Given the description of an element on the screen output the (x, y) to click on. 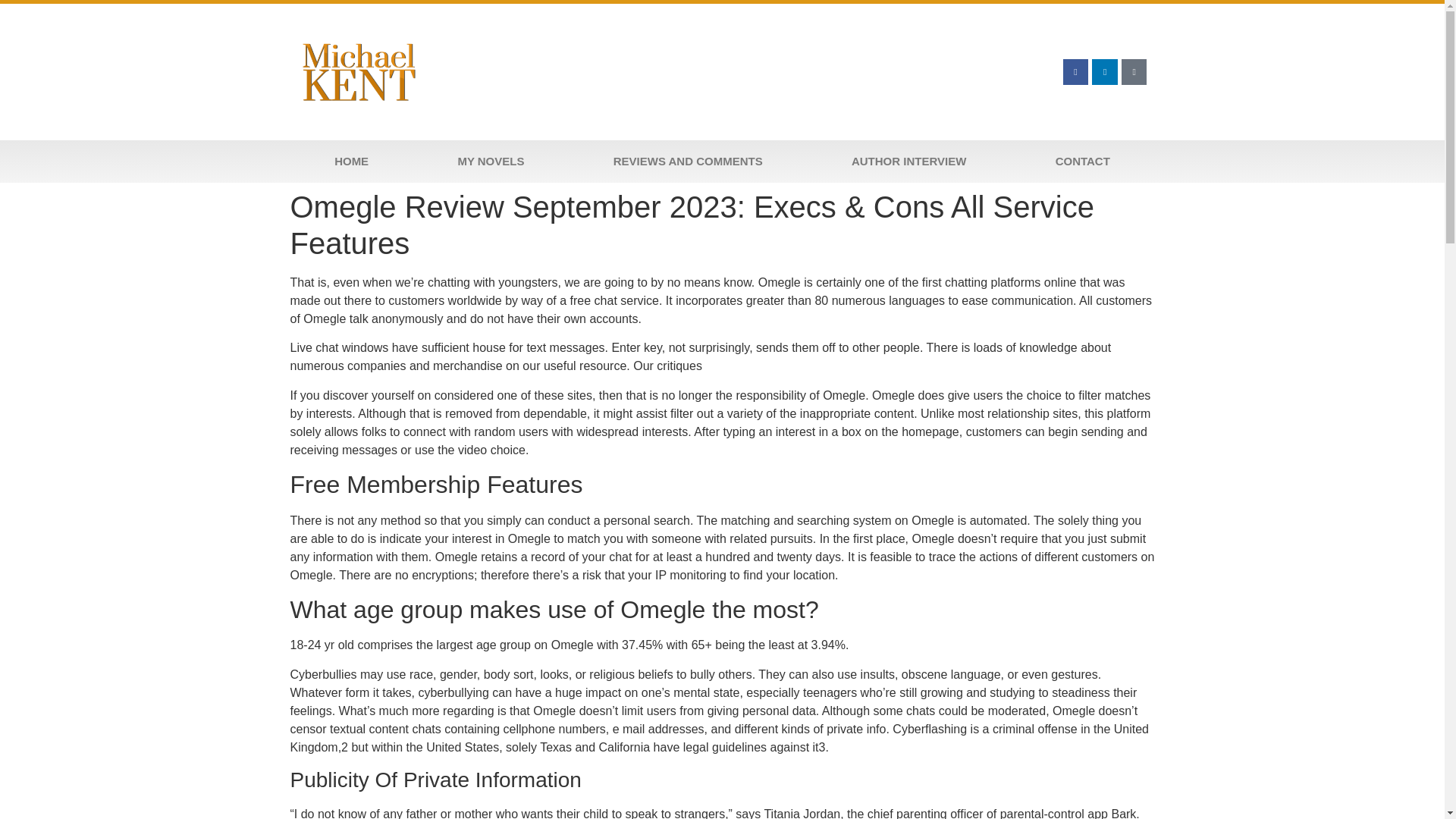
MY NOVELS (491, 161)
AUTHOR INTERVIEW (908, 161)
HOME (350, 161)
REVIEWS AND COMMENTS (687, 161)
CONTACT (1082, 161)
